Given the description of an element on the screen output the (x, y) to click on. 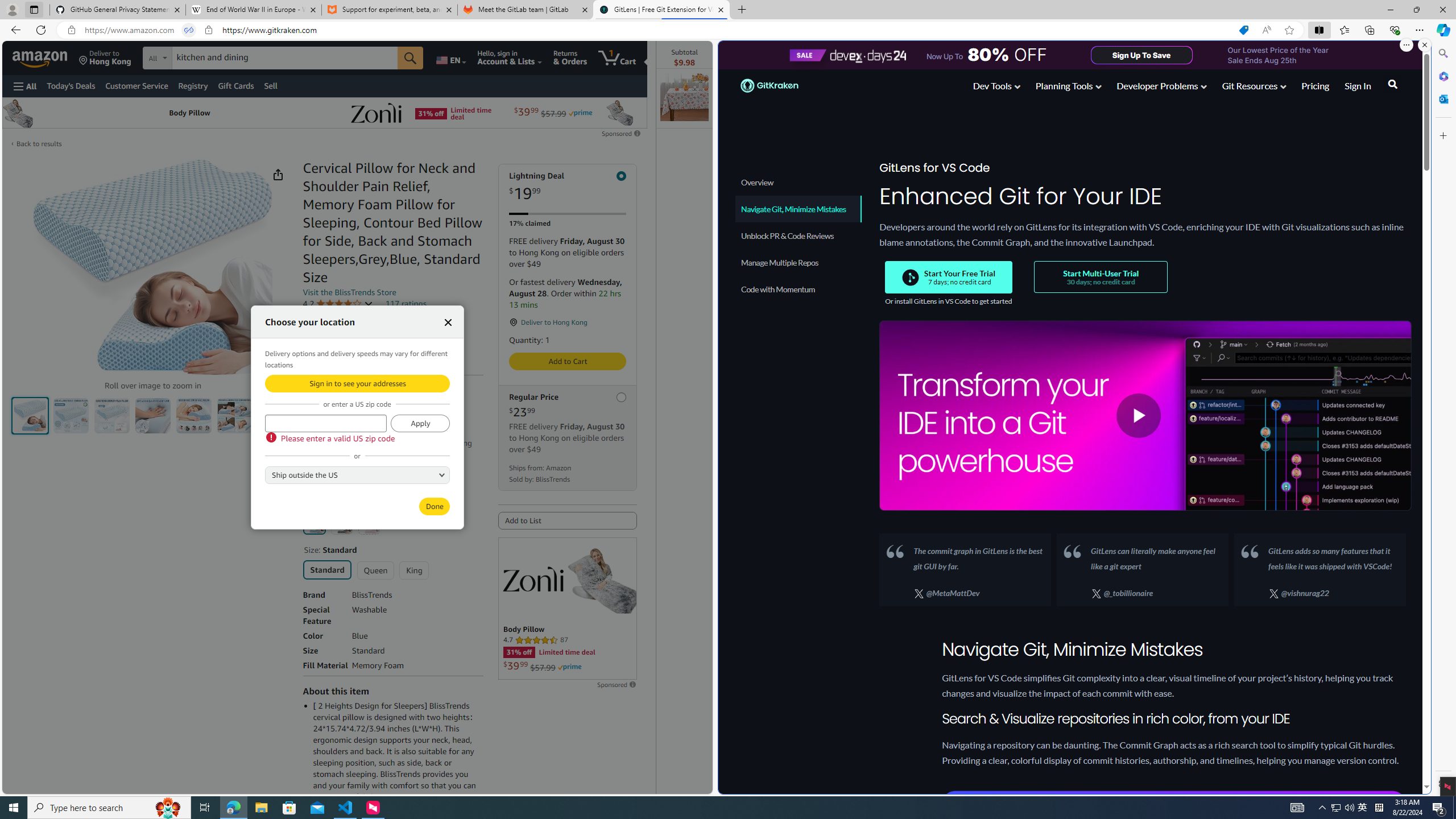
Sign in to see your addresses (356, 383)
Gift Cards (235, 85)
Manage Multiple Repos (797, 262)
Standard (327, 569)
Sell (270, 85)
Sign In (1357, 85)
Deliver to Hong Kong (105, 57)
Sign Up To Save (1141, 54)
Unblock PR & Code Reviews (798, 235)
GitHub General Privacy Statement - GitHub Docs (117, 9)
